Given the description of an element on the screen output the (x, y) to click on. 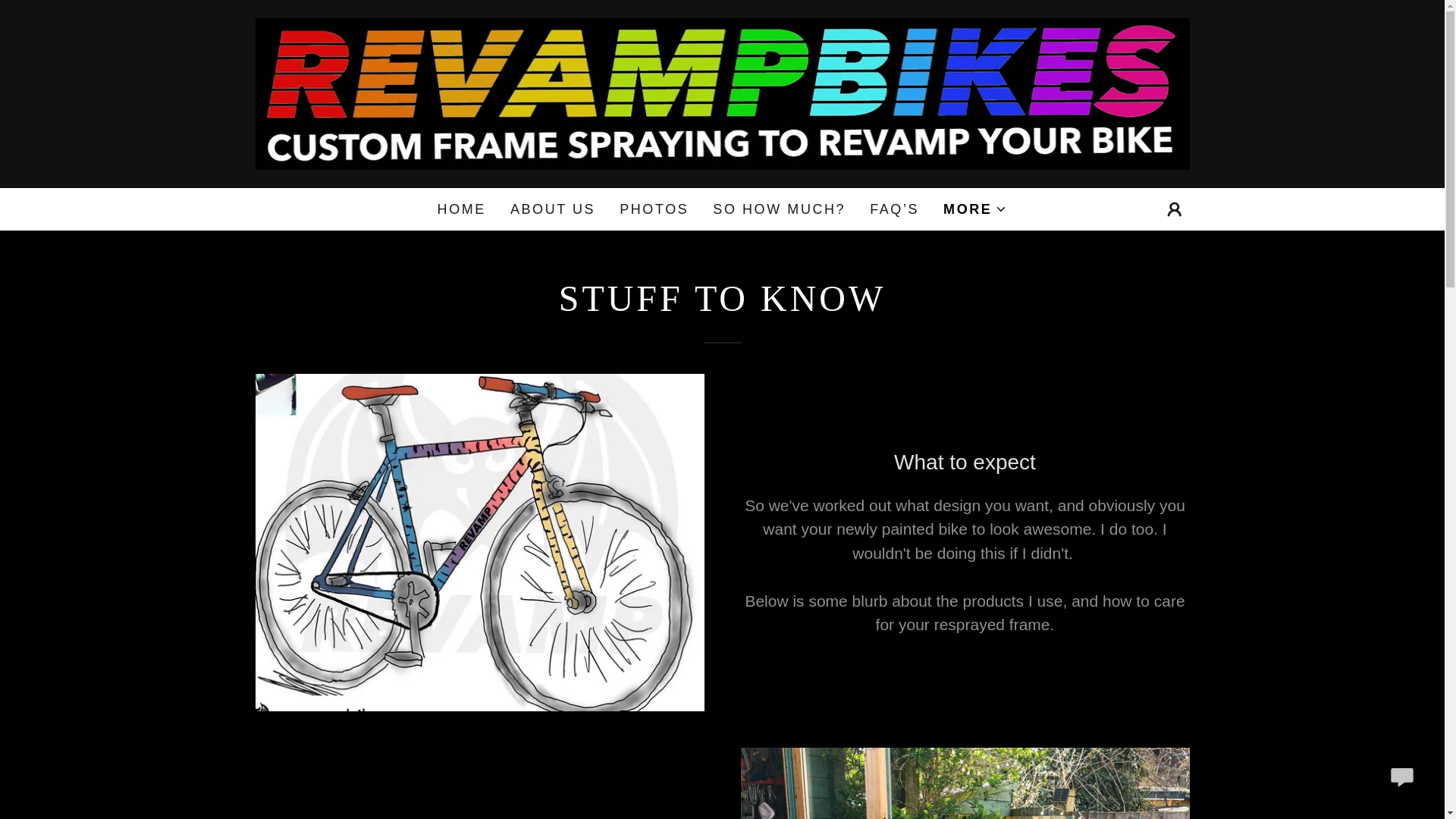
PHOTOS (653, 208)
SO HOW MUCH? (778, 208)
MORE (975, 208)
ABOUT US (552, 208)
HOME (461, 208)
